Given the description of an element on the screen output the (x, y) to click on. 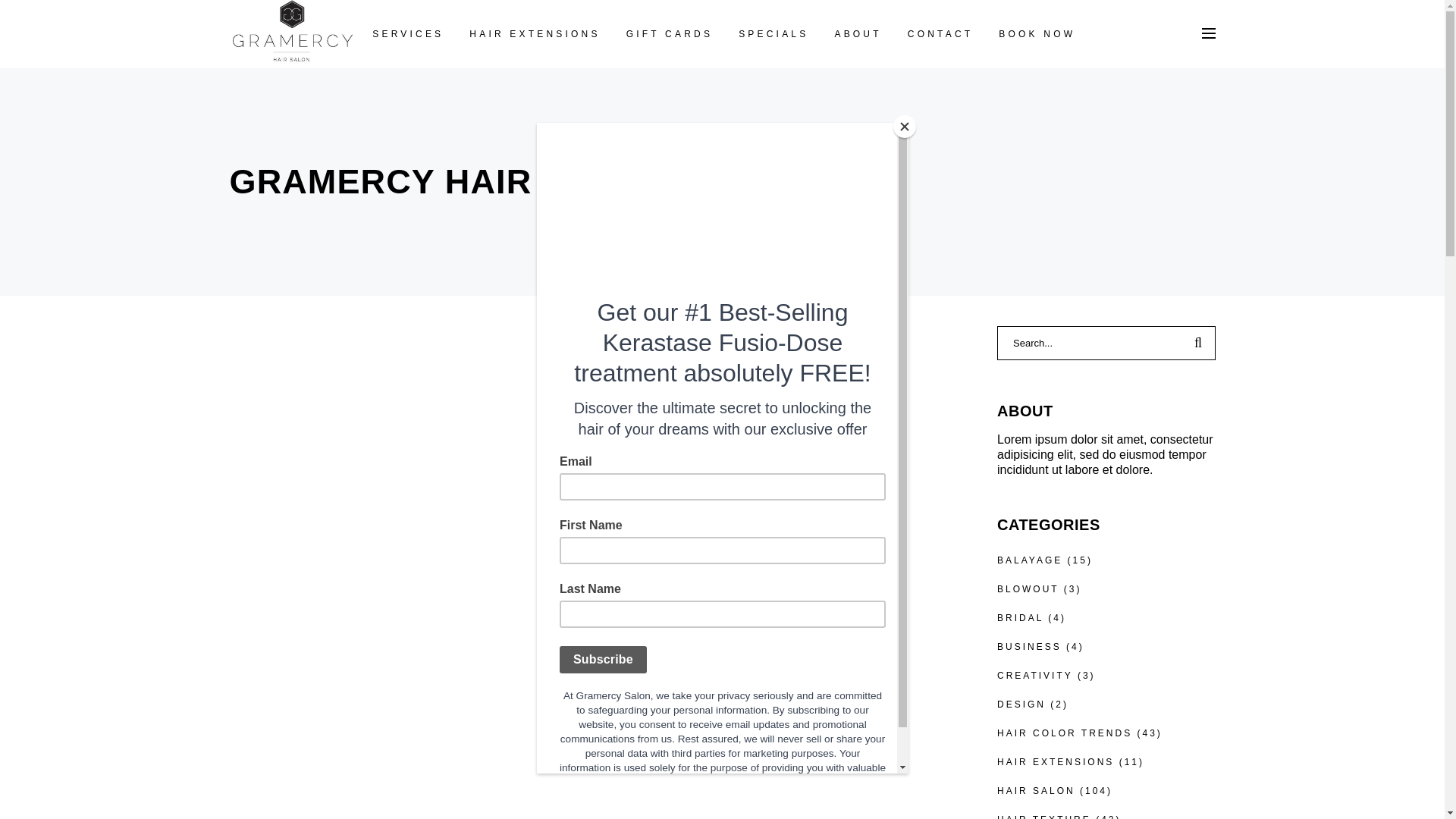
SERVICES (408, 33)
GIFT CARDS (668, 33)
Search for: (1089, 342)
CONTACT (941, 33)
ABOUT (857, 33)
SPECIALS (773, 33)
BOOK NOW (1036, 33)
HAIR EXTENSIONS (534, 33)
